Given the description of an element on the screen output the (x, y) to click on. 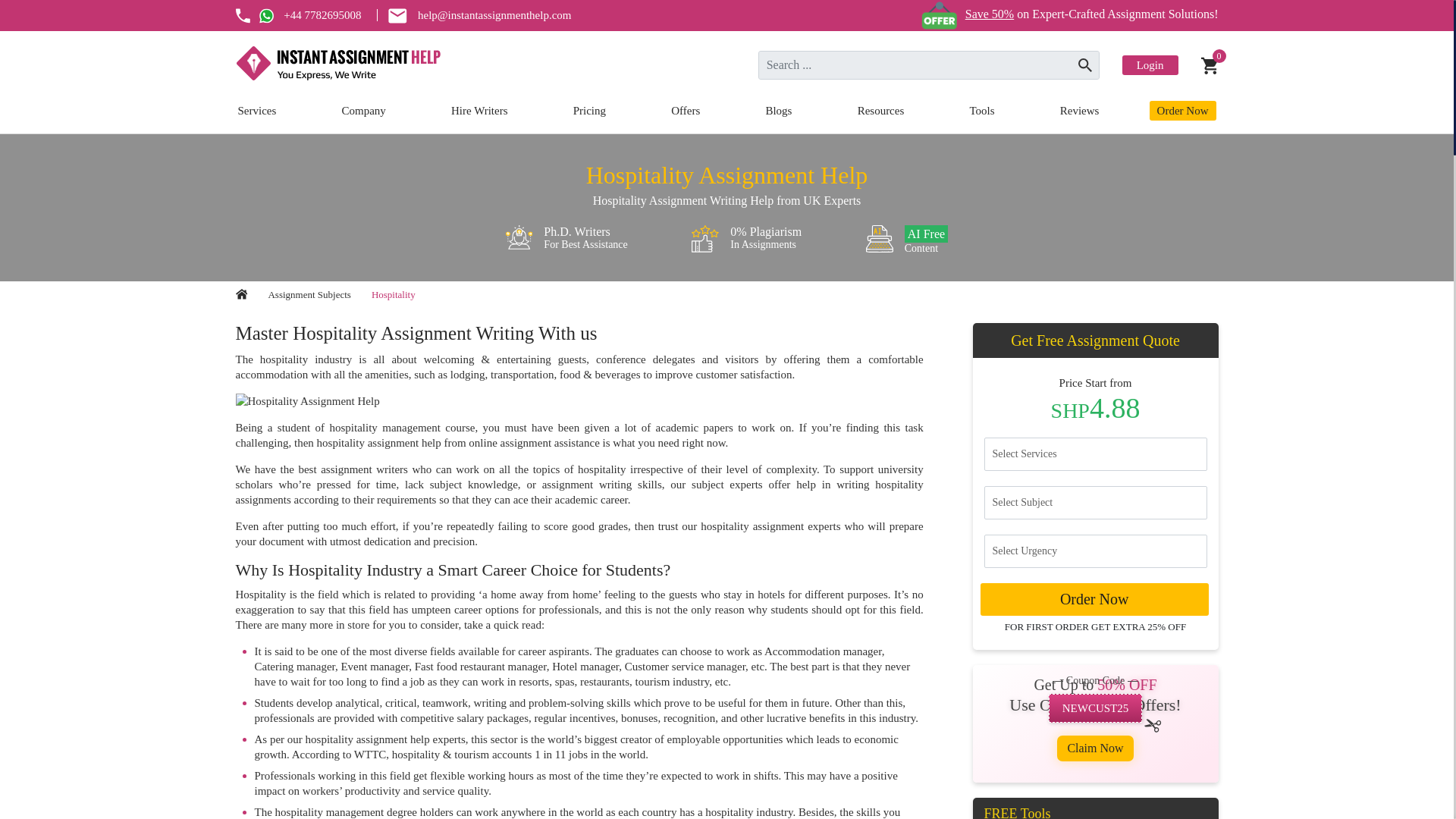
Login (1149, 65)
0 (1209, 64)
Home (240, 293)
